Given the description of an element on the screen output the (x, y) to click on. 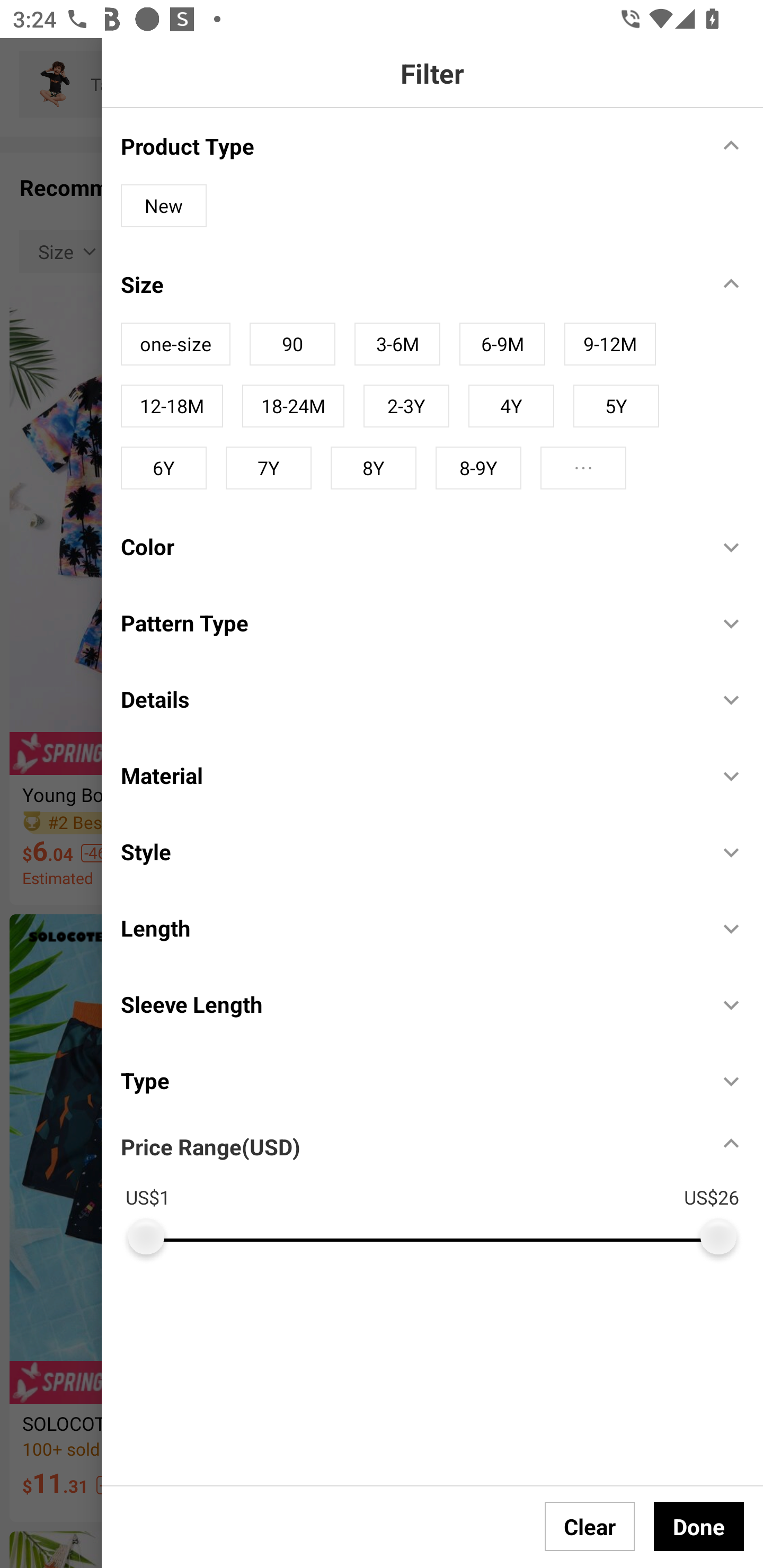
Bottoms (417, 83)
Product Type (409, 145)
New (163, 206)
Size (409, 284)
one-size (175, 344)
90 (292, 344)
3-6M (397, 344)
6-9M (502, 344)
9-12M (610, 344)
12-18M (171, 406)
18-24M (292, 406)
2-3Y (406, 406)
4Y (510, 406)
5Y (616, 406)
6Y (163, 467)
7Y (268, 467)
8Y (373, 467)
8-9Y (478, 467)
Color (409, 546)
Pattern Type (409, 622)
Details (409, 699)
Material (409, 774)
Style (409, 851)
Length (409, 928)
Sleeve Length (409, 1003)
Type (409, 1080)
Price Range(USD) US$1 US$26 (441, 1185)
Price Range(USD) (210, 1146)
Clear (589, 1526)
Done (698, 1526)
